Given the description of an element on the screen output the (x, y) to click on. 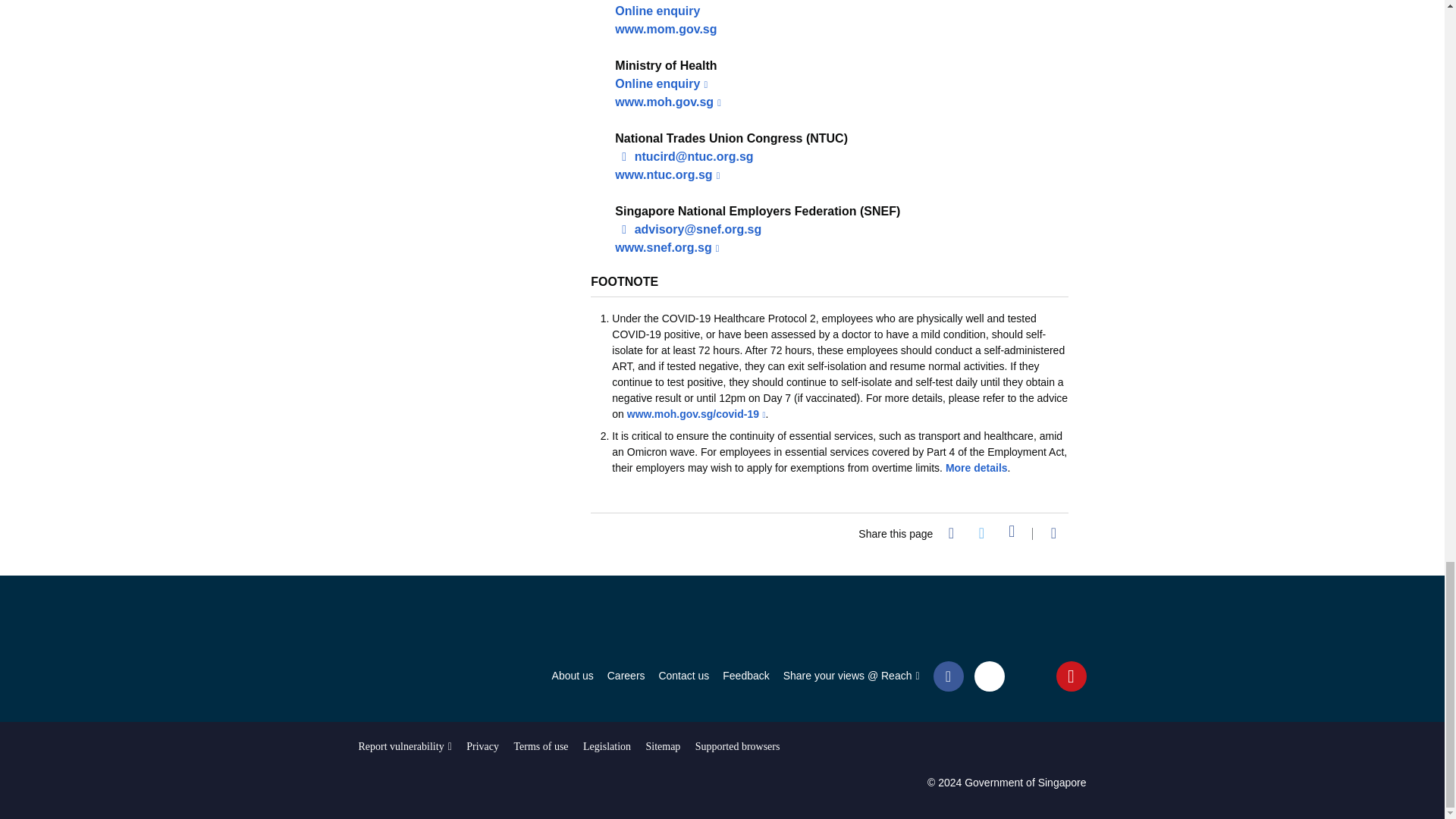
Find us on LinkedIn (989, 675)
View our YouTube Channel (1070, 675)
Find us on Telegram (1029, 675)
Find us on Facebook (947, 675)
Online enquiry (657, 10)
www.ntuc.org.sg (666, 174)
www.mom.gov.sg (665, 29)
www.moh.gov.sg (667, 101)
Online enquiry (660, 83)
Ministry of Manpower (413, 624)
